Given the description of an element on the screen output the (x, y) to click on. 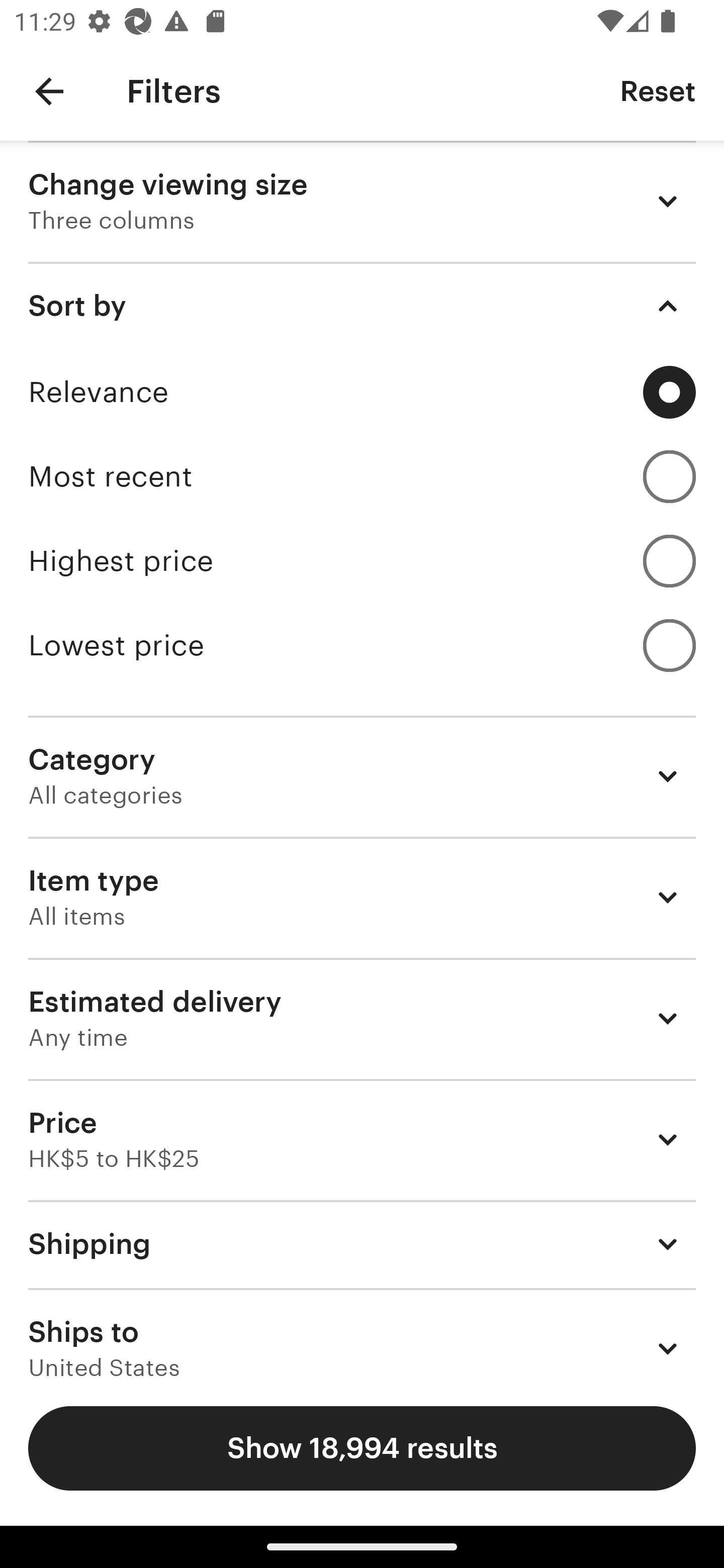
Navigate up (49, 91)
Reset (657, 90)
Change viewing size Three columns (362, 201)
Sort by (362, 305)
Relevance (362, 391)
Most recent (362, 476)
Highest price (362, 561)
Lowest price (362, 644)
Category All categories (362, 776)
Item type All items (362, 897)
Estimated delivery Any time (362, 1018)
Price HK$5 to HK$25 (362, 1138)
Shipping (362, 1243)
Ships to United States (362, 1332)
Show 18,994 results Show results (361, 1448)
